Given the description of an element on the screen output the (x, y) to click on. 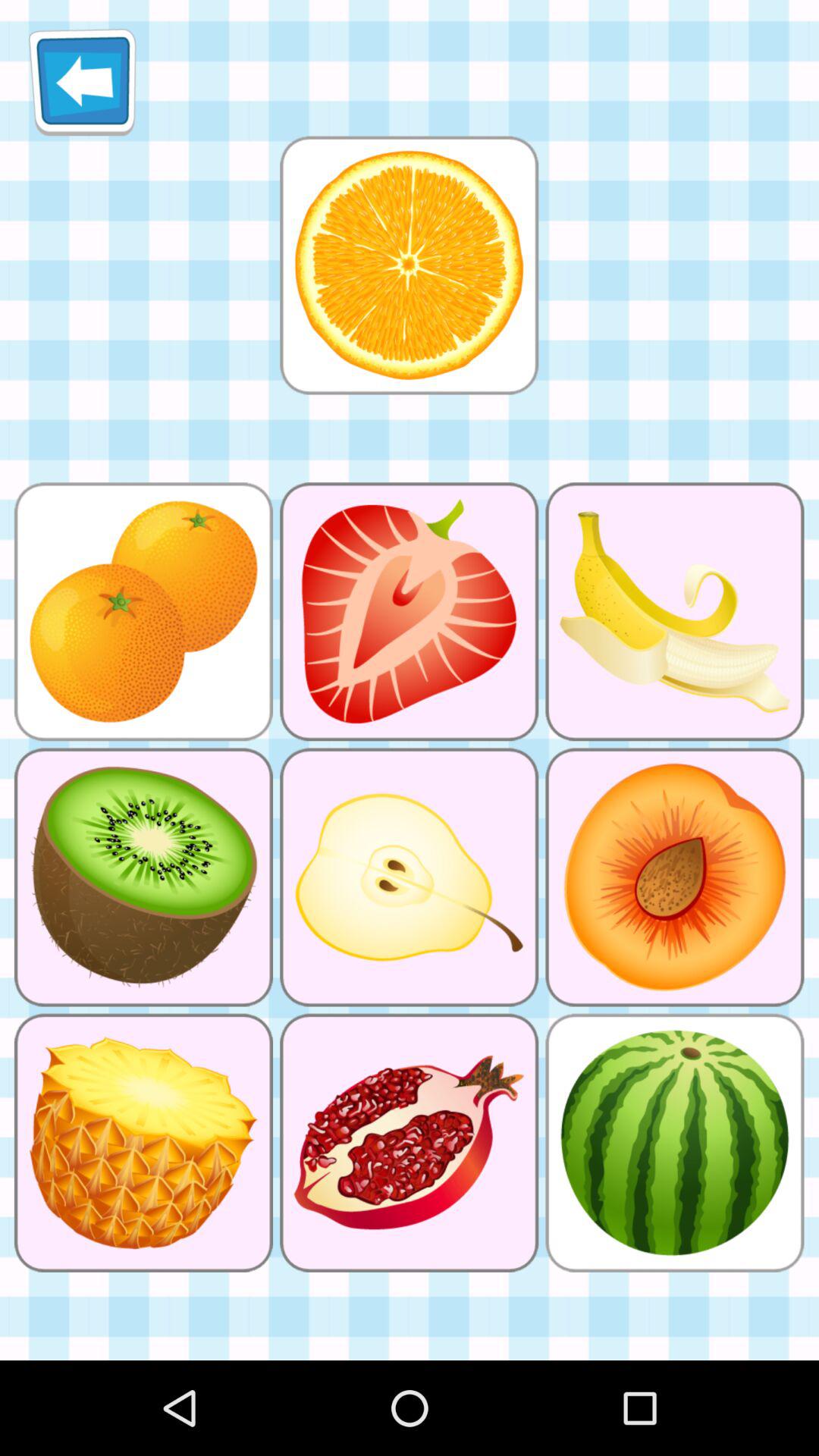
select orange (409, 265)
